Given the description of an element on the screen output the (x, y) to click on. 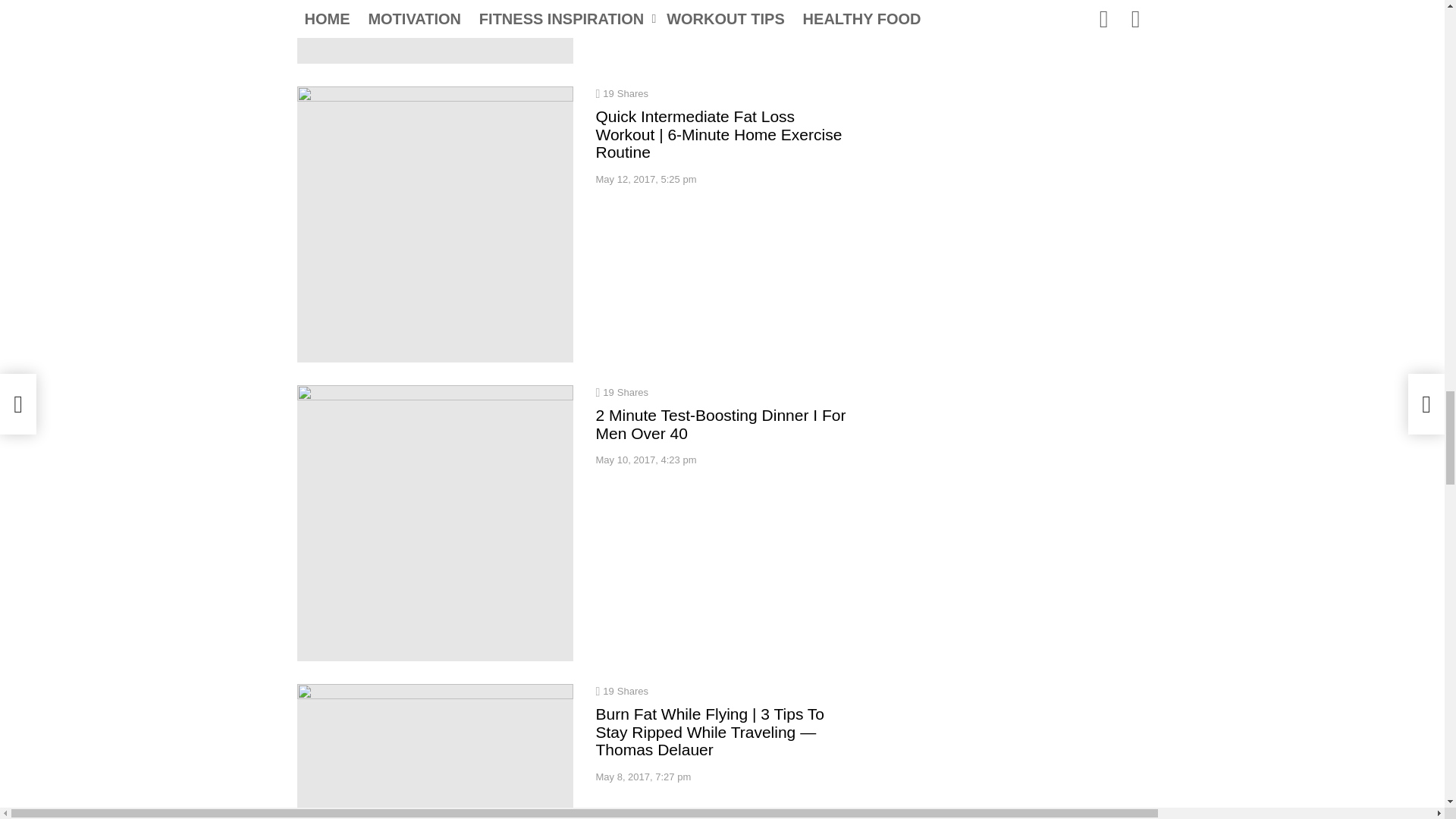
2 Minute Test-Boosting Dinner I For Men Over 40 (435, 522)
